Given the description of an element on the screen output the (x, y) to click on. 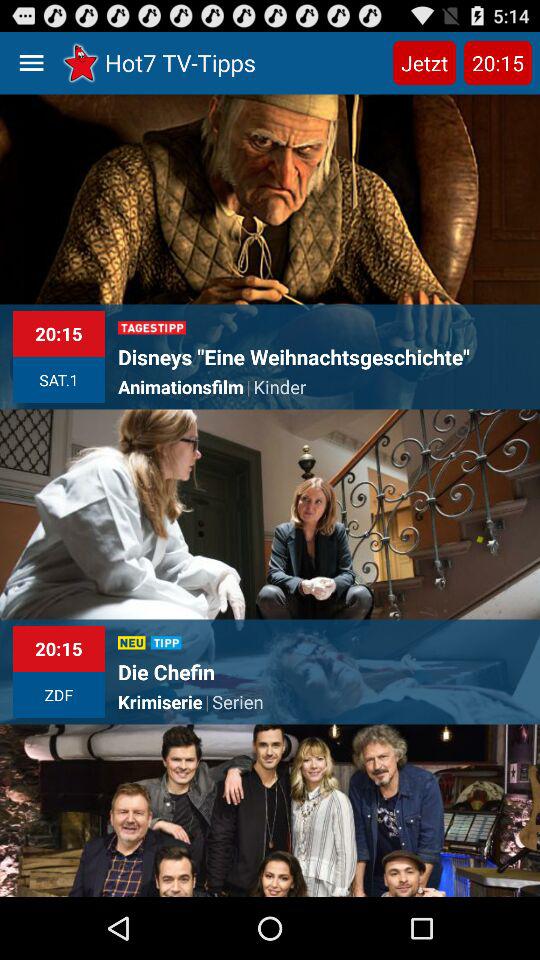
select jetzt (424, 62)
